Given the description of an element on the screen output the (x, y) to click on. 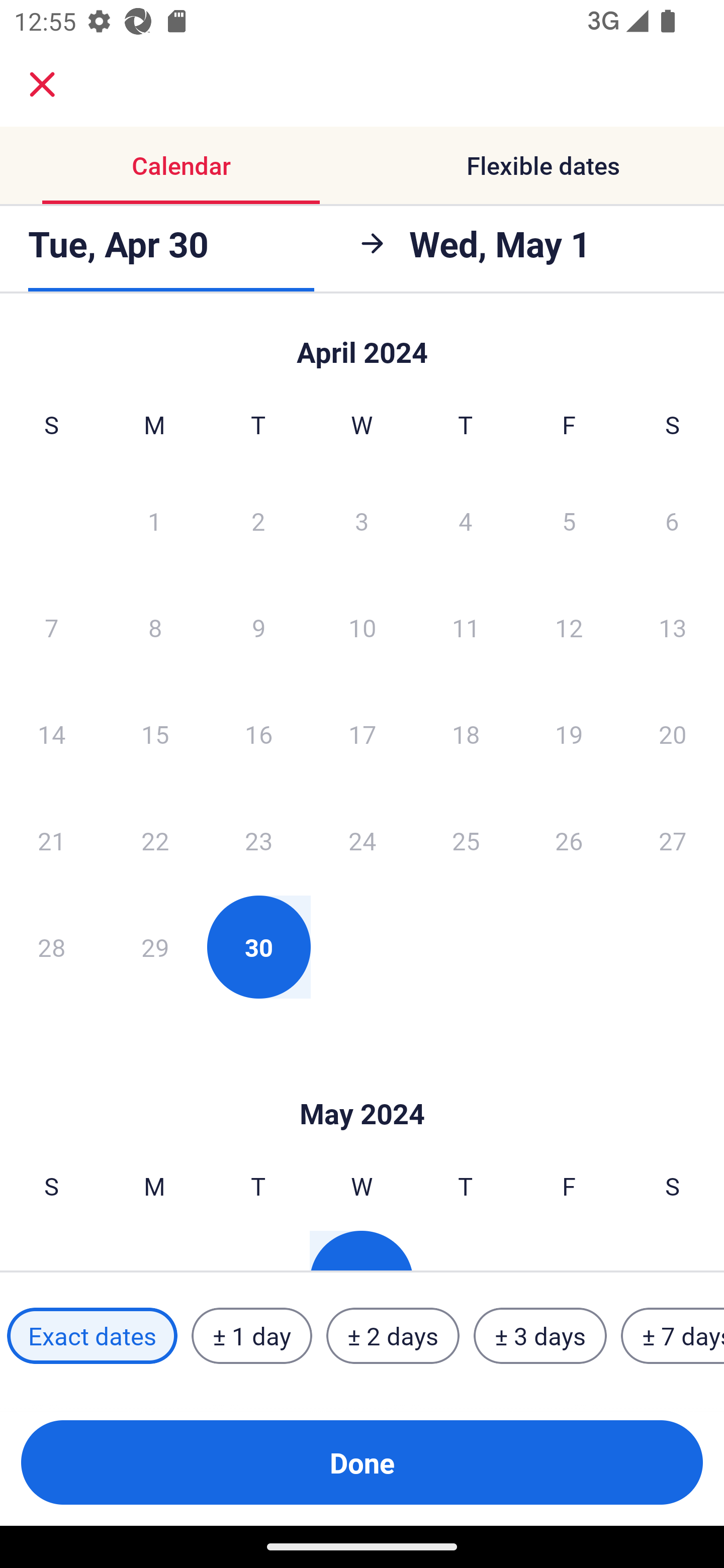
close. (42, 84)
Flexible dates (542, 164)
Skip to Done (362, 343)
1 Monday, April 1, 2024 (154, 520)
2 Tuesday, April 2, 2024 (257, 520)
3 Wednesday, April 3, 2024 (361, 520)
4 Thursday, April 4, 2024 (465, 520)
5 Friday, April 5, 2024 (568, 520)
6 Saturday, April 6, 2024 (672, 520)
7 Sunday, April 7, 2024 (51, 626)
8 Monday, April 8, 2024 (155, 626)
9 Tuesday, April 9, 2024 (258, 626)
10 Wednesday, April 10, 2024 (362, 626)
11 Thursday, April 11, 2024 (465, 626)
12 Friday, April 12, 2024 (569, 626)
13 Saturday, April 13, 2024 (672, 626)
14 Sunday, April 14, 2024 (51, 733)
15 Monday, April 15, 2024 (155, 733)
16 Tuesday, April 16, 2024 (258, 733)
17 Wednesday, April 17, 2024 (362, 733)
18 Thursday, April 18, 2024 (465, 733)
19 Friday, April 19, 2024 (569, 733)
20 Saturday, April 20, 2024 (672, 733)
21 Sunday, April 21, 2024 (51, 840)
22 Monday, April 22, 2024 (155, 840)
23 Tuesday, April 23, 2024 (258, 840)
24 Wednesday, April 24, 2024 (362, 840)
25 Thursday, April 25, 2024 (465, 840)
26 Friday, April 26, 2024 (569, 840)
27 Saturday, April 27, 2024 (672, 840)
28 Sunday, April 28, 2024 (51, 946)
29 Monday, April 29, 2024 (155, 946)
Skip to Done (362, 1083)
Exact dates (92, 1335)
± 1 day (251, 1335)
± 2 days (392, 1335)
± 3 days (539, 1335)
± 7 days (672, 1335)
Done (361, 1462)
